Given the description of an element on the screen output the (x, y) to click on. 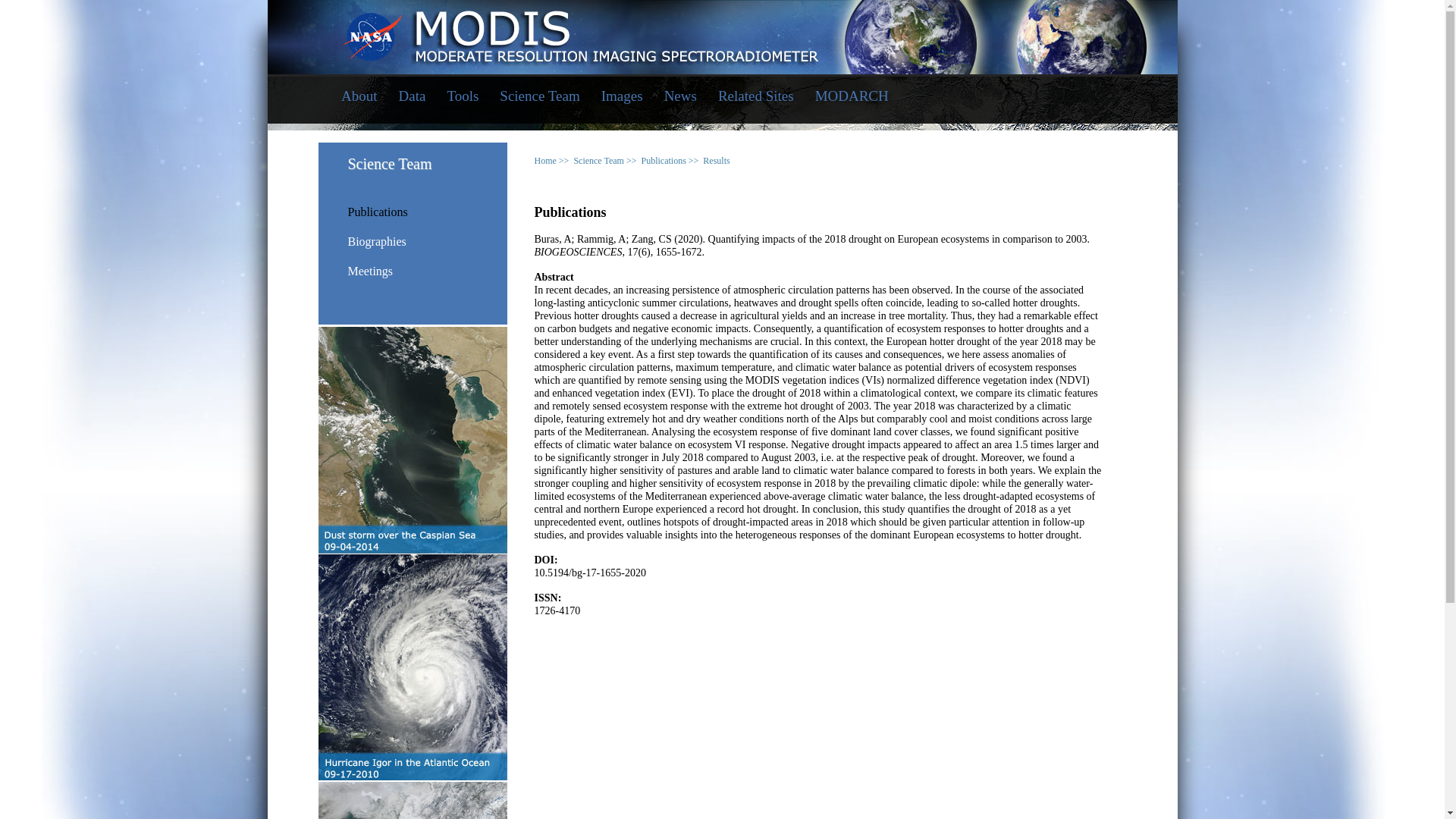
Data (412, 96)
Link To NASA website (722, 28)
About (358, 96)
